Given the description of an element on the screen output the (x, y) to click on. 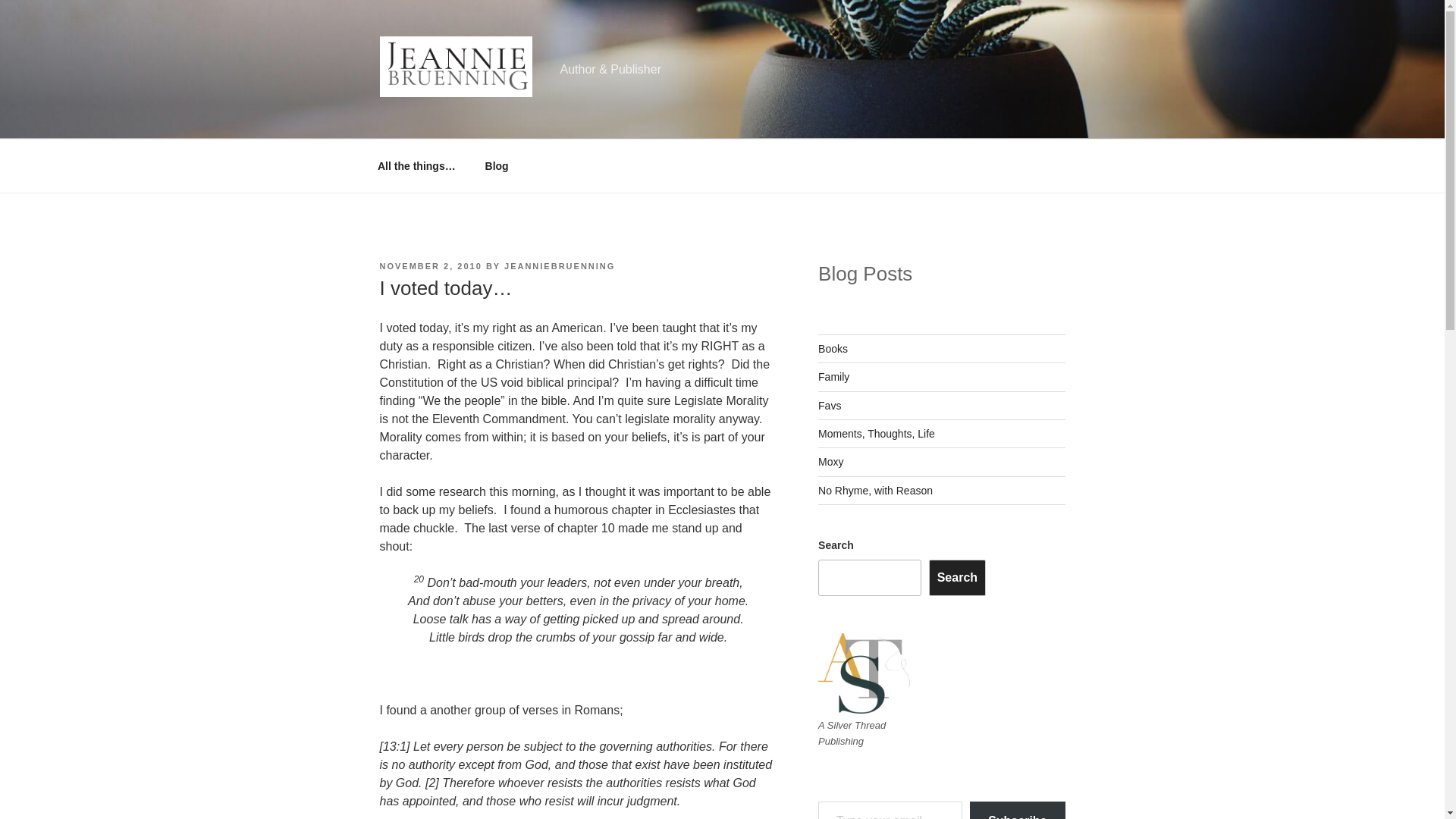
NOVEMBER 2, 2010 (429, 266)
Favs (829, 405)
Search (956, 577)
Blog (496, 165)
No Rhyme, with Reason (875, 490)
Books (832, 348)
Subscribe (1016, 810)
Moments, Thoughts, Life (876, 433)
Please fill in this field. (890, 810)
Family (833, 377)
